Given the description of an element on the screen output the (x, y) to click on. 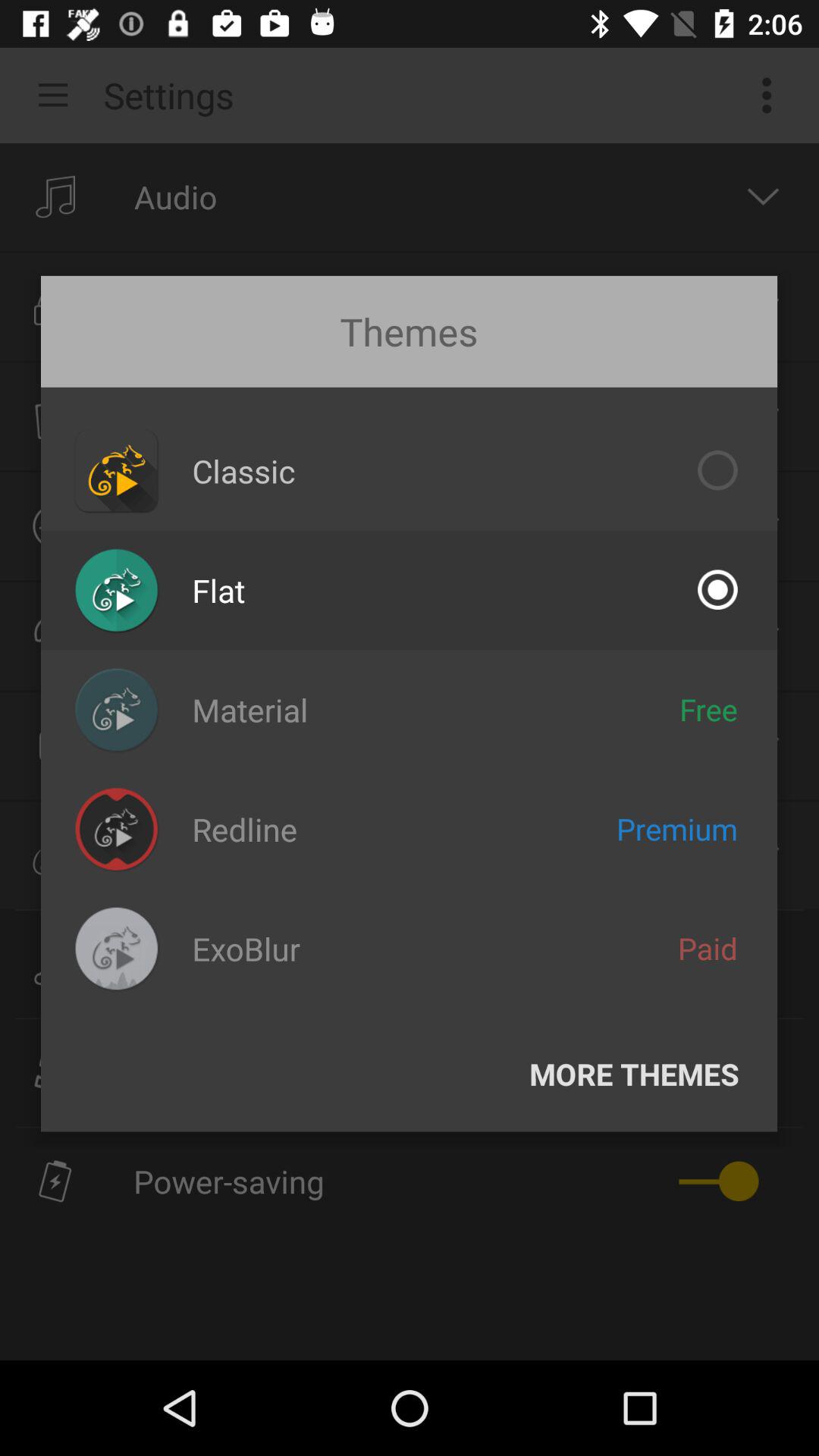
press redline (244, 828)
